Given the description of an element on the screen output the (x, y) to click on. 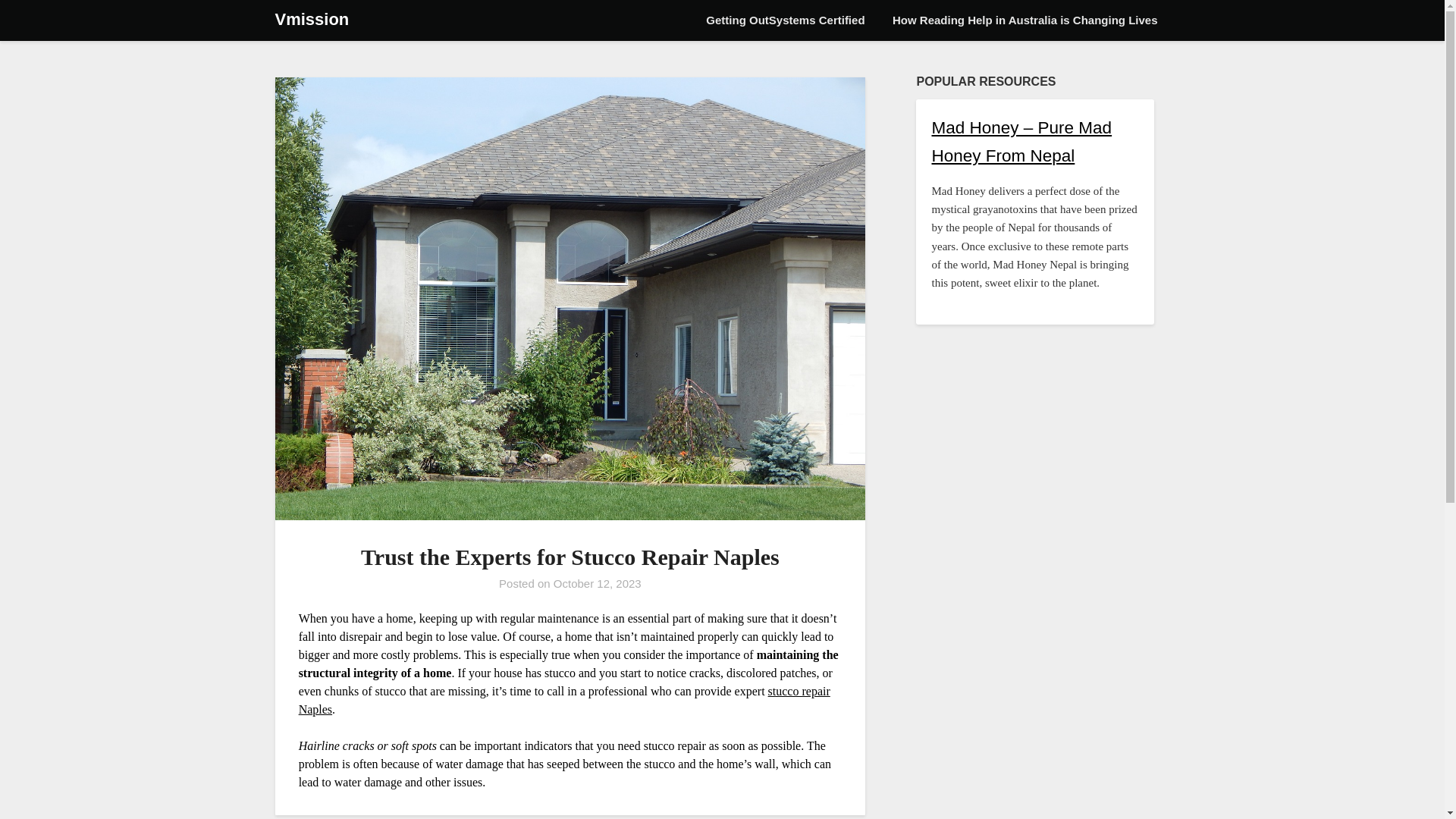
Vmission (312, 19)
stucco repair Naples (563, 699)
How Reading Help in Australia is Changing Lives (1025, 20)
October 12, 2023 (597, 583)
Getting OutSystems Certified (785, 20)
